Given the description of an element on the screen output the (x, y) to click on. 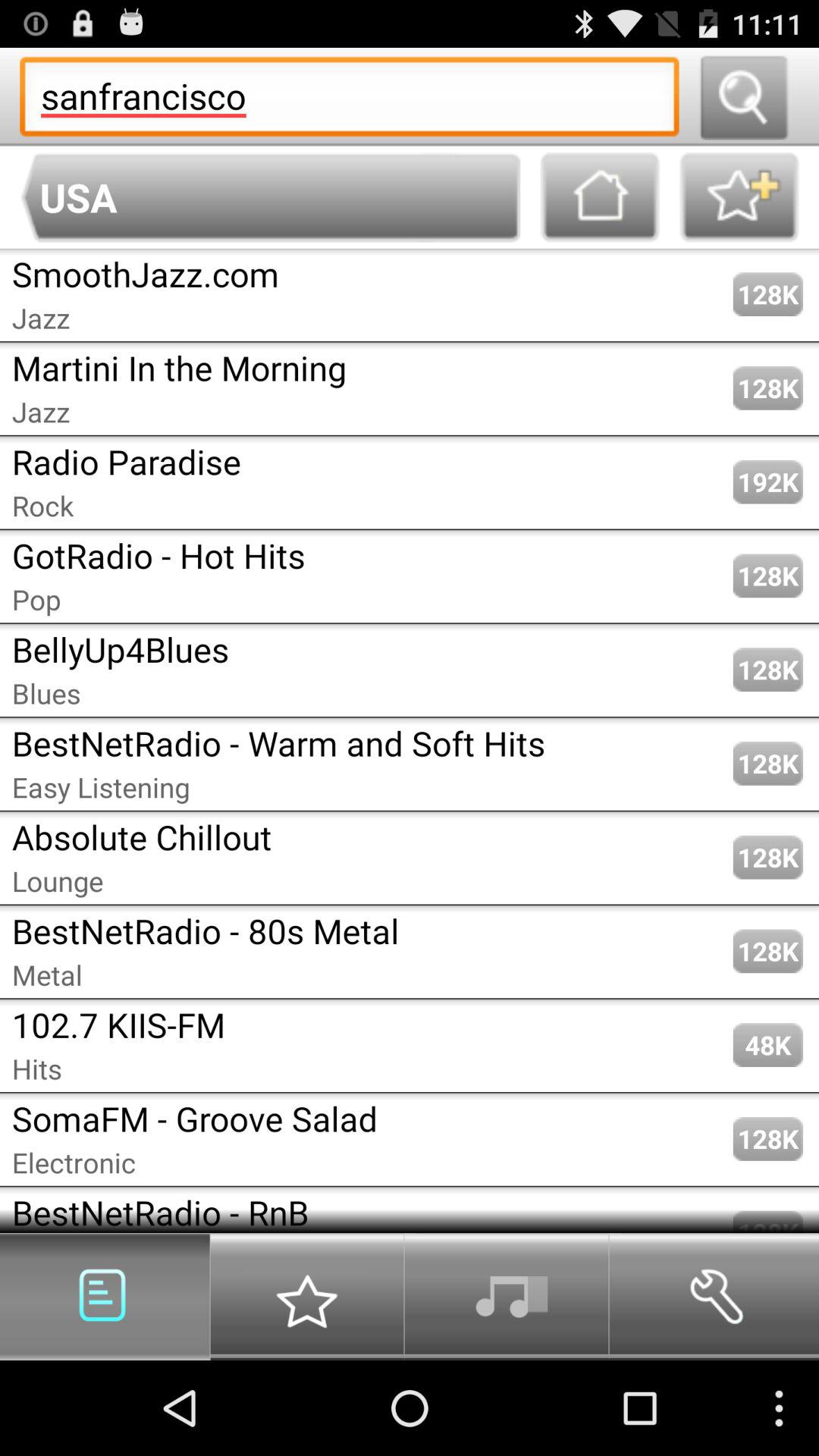
go to home option (599, 197)
